Given the description of an element on the screen output the (x, y) to click on. 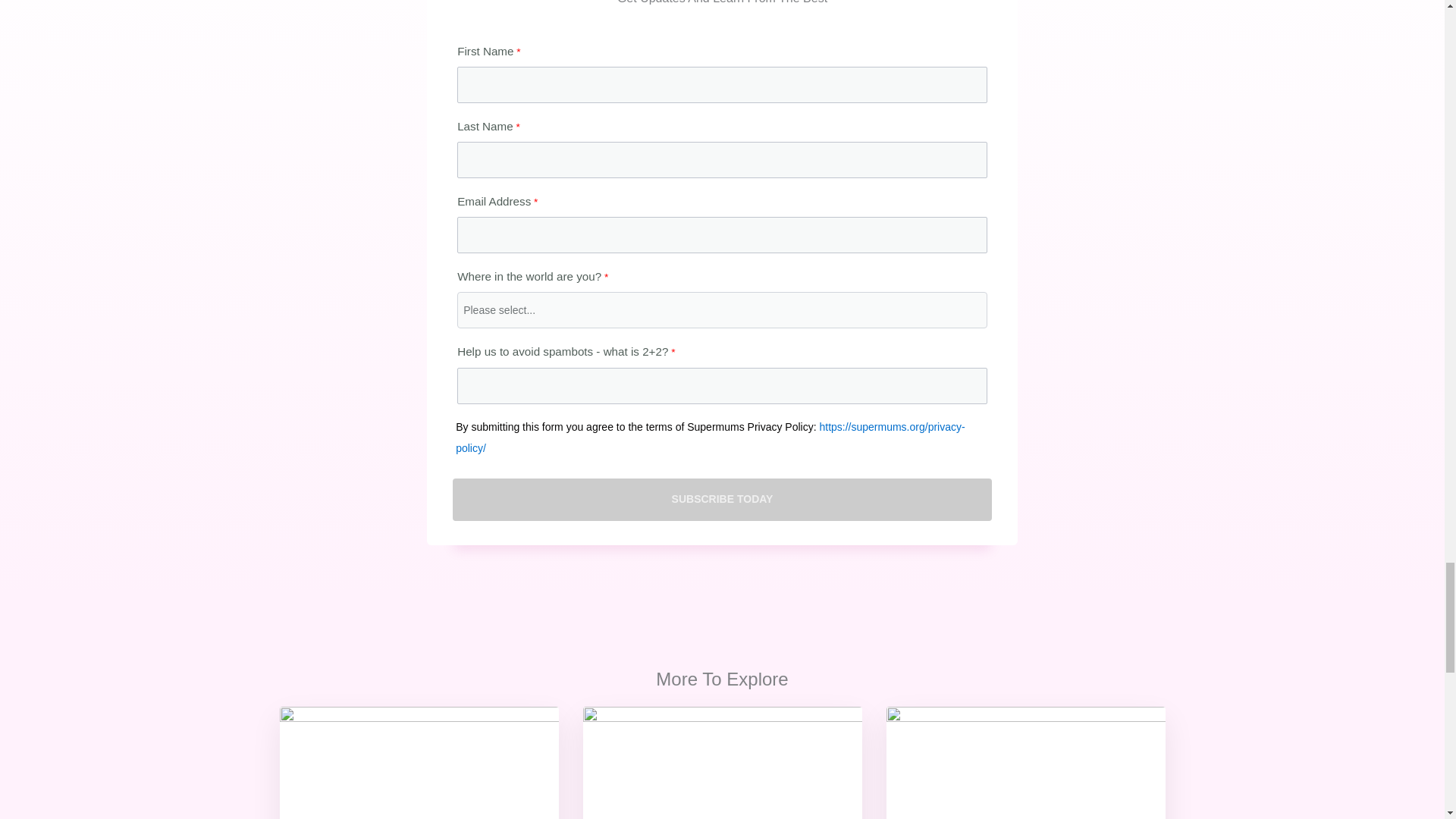
Last Name (722, 159)
Where in the world are you? (722, 309)
First Name (722, 84)
Subscribe Today (721, 499)
Email Address (722, 235)
